Given the description of an element on the screen output the (x, y) to click on. 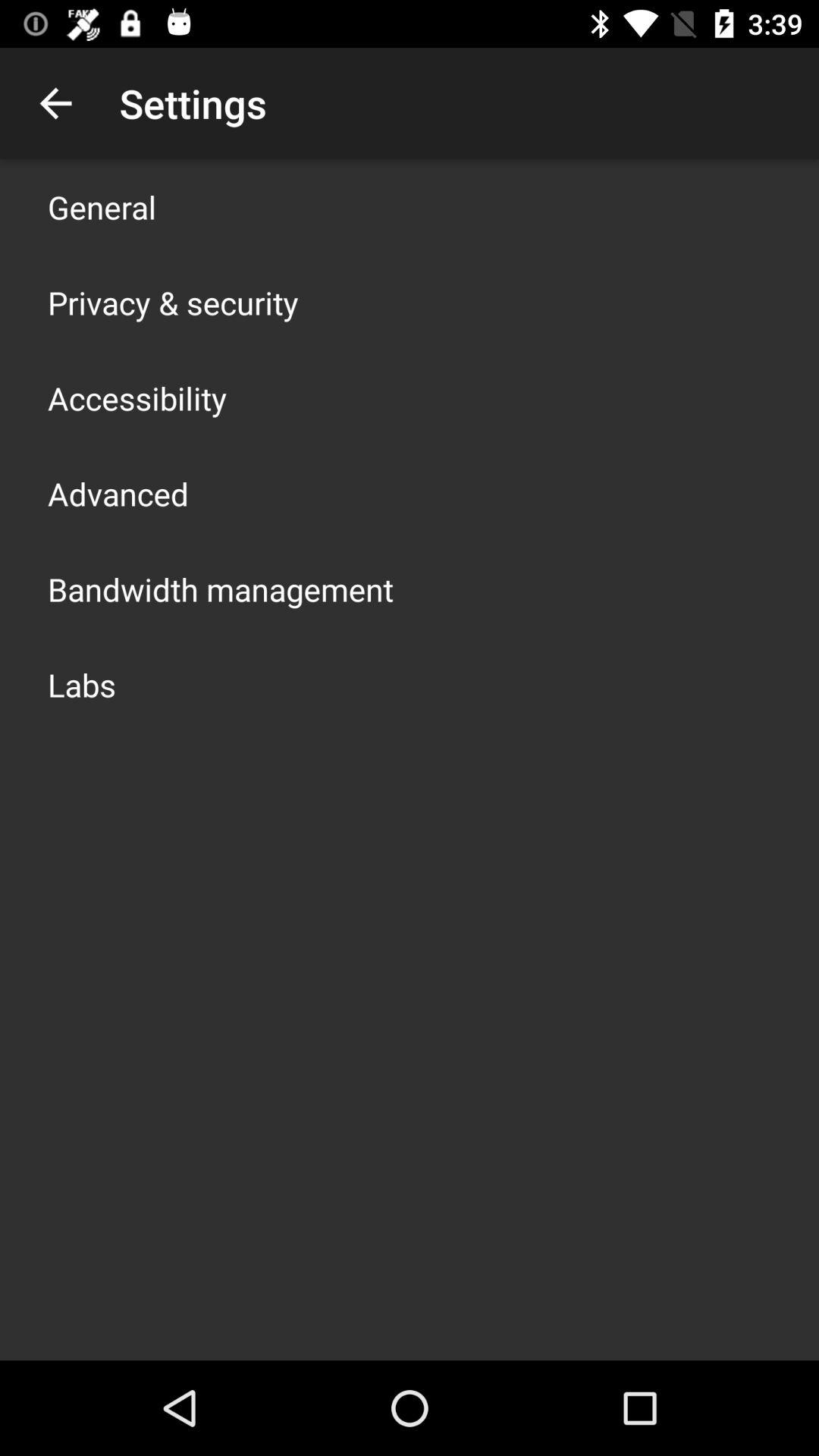
turn on the icon above bandwidth management (117, 493)
